Given the description of an element on the screen output the (x, y) to click on. 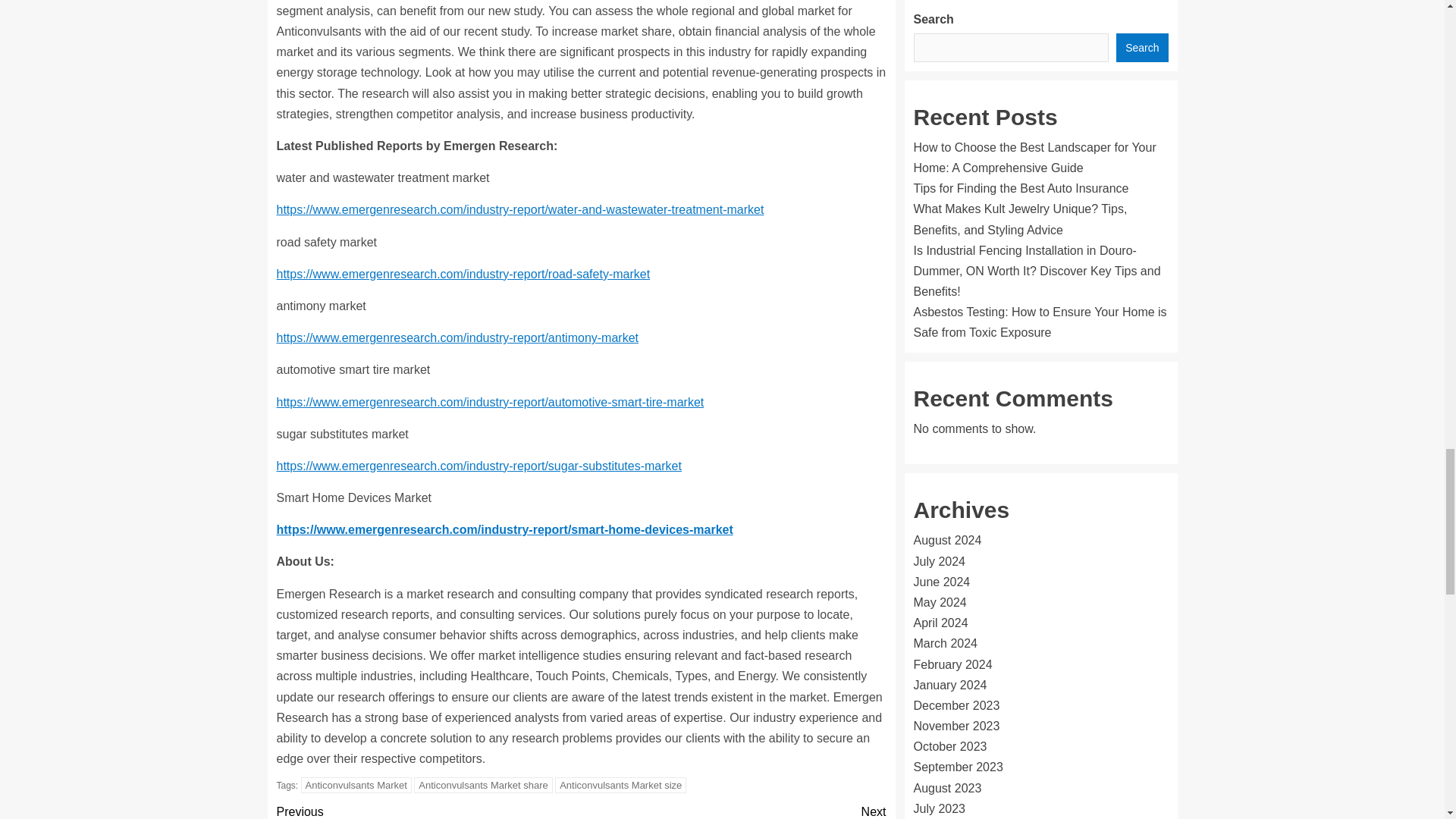
Anticonvulsants Market size (619, 785)
Anticonvulsants Market share (483, 785)
Anticonvulsants Market (356, 785)
